Given the description of an element on the screen output the (x, y) to click on. 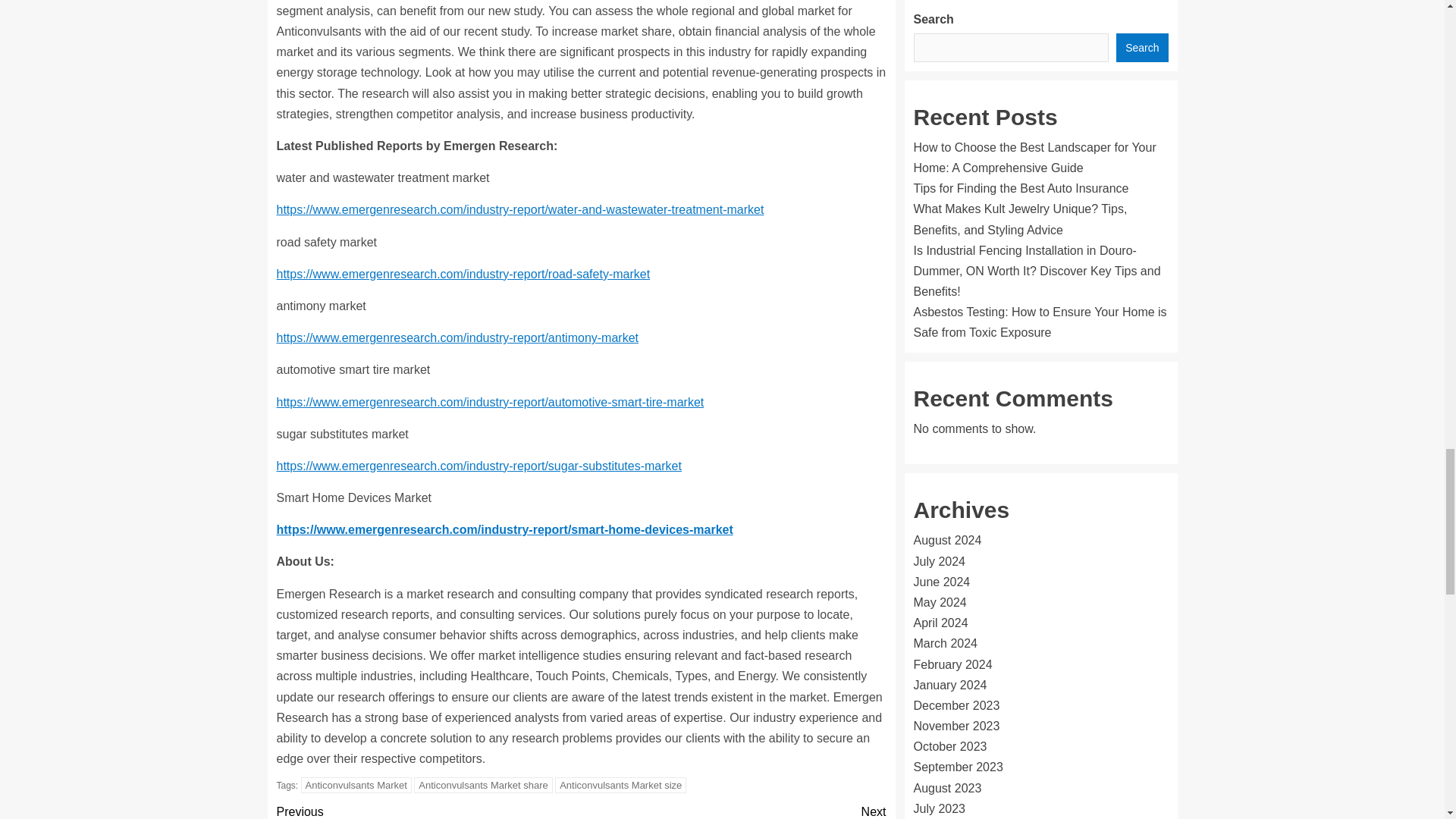
Anticonvulsants Market size (619, 785)
Anticonvulsants Market share (483, 785)
Anticonvulsants Market (356, 785)
